Given the description of an element on the screen output the (x, y) to click on. 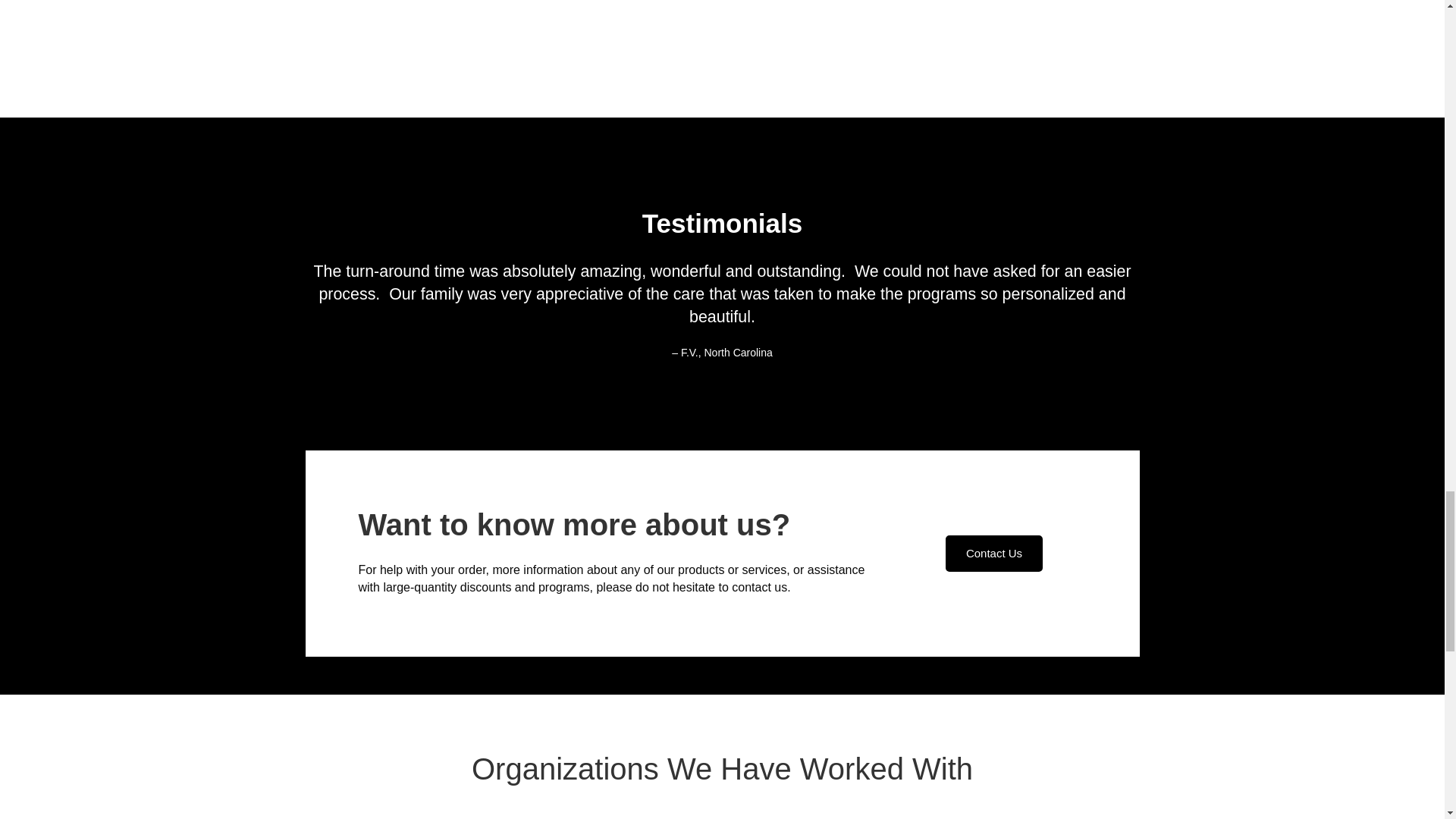
arrow1 (572, 39)
arrow2 (871, 21)
Contact Us (993, 553)
